Given the description of an element on the screen output the (x, y) to click on. 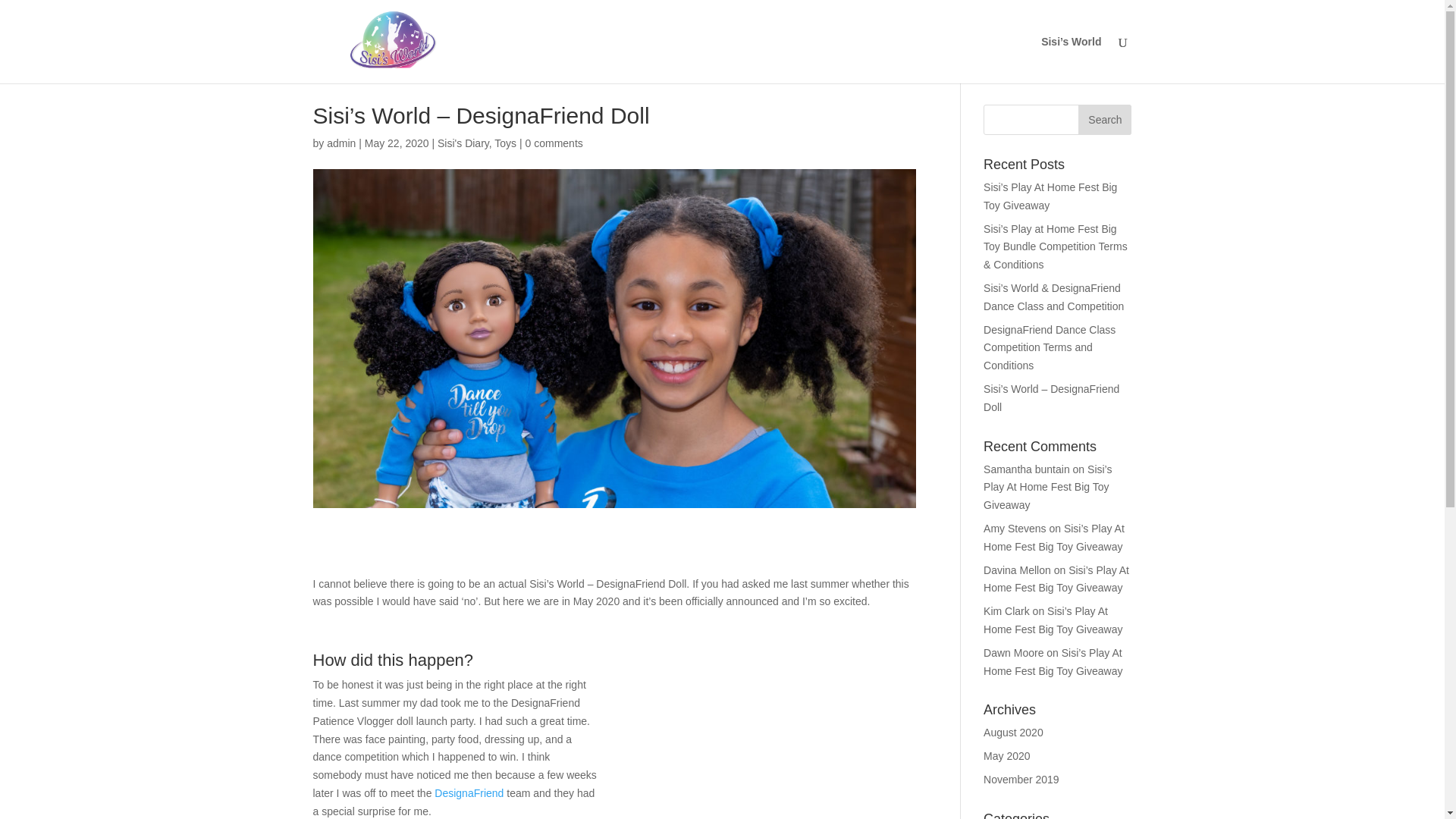
Posts by admin (340, 143)
DesignaFriend Dance Class Competition Terms and Conditions (1049, 347)
DesignaFriend (468, 793)
Search (1104, 119)
November 2019 (1021, 779)
Toys (505, 143)
admin (340, 143)
0 comments (554, 143)
Search (1104, 119)
May 2020 (1006, 756)
August 2020 (1013, 732)
Sisi's Diary (463, 143)
